Given the description of an element on the screen output the (x, y) to click on. 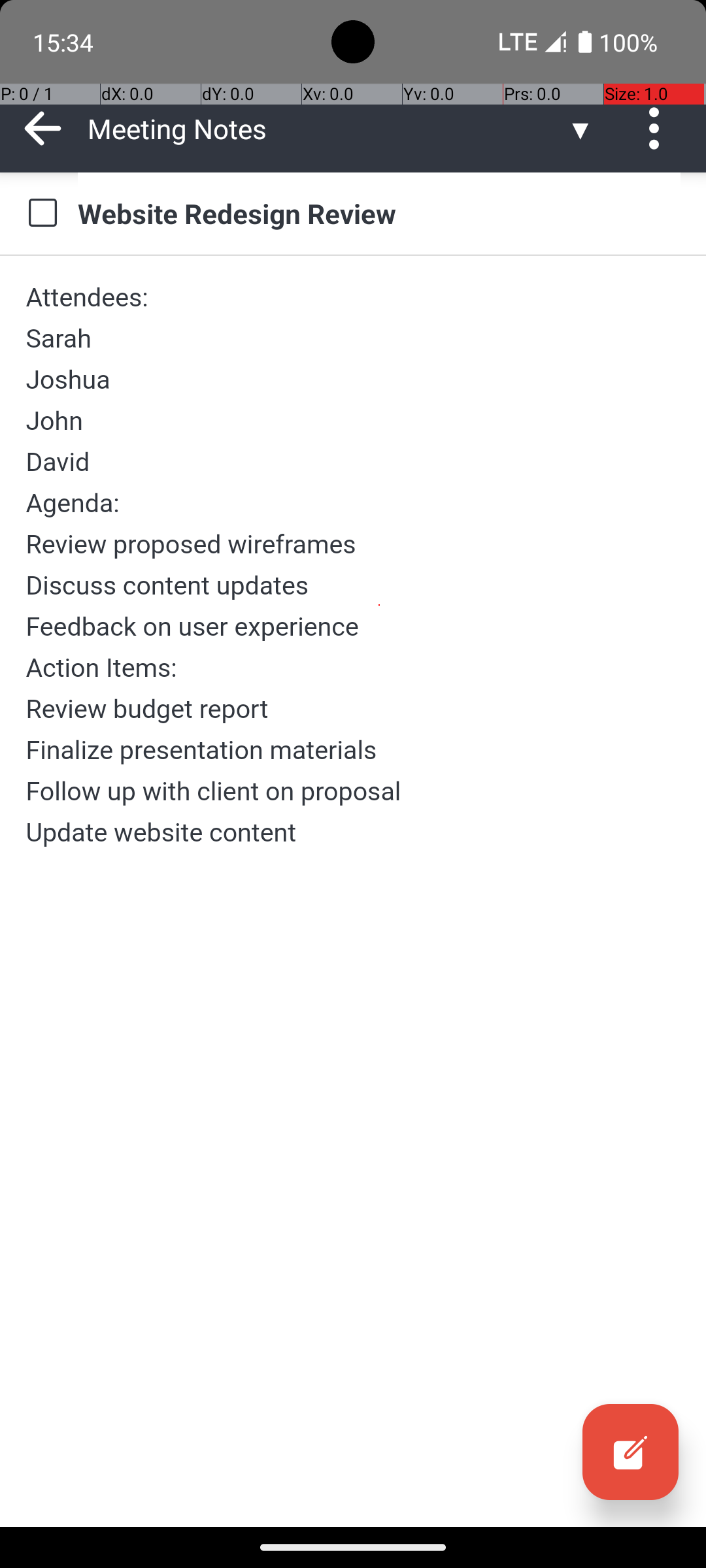
Website Redesign Review Element type: android.widget.EditText (378, 213)
Attendees:
Sarah
Joshua
John
David
Agenda:
Review proposed wireframes
Discuss content updates
Feedback on user experience
Action Items:
Review budget report
Finalize presentation materials
Follow up with client on proposal
Update website content Element type: android.widget.TextView (352, 564)
